Given the description of an element on the screen output the (x, y) to click on. 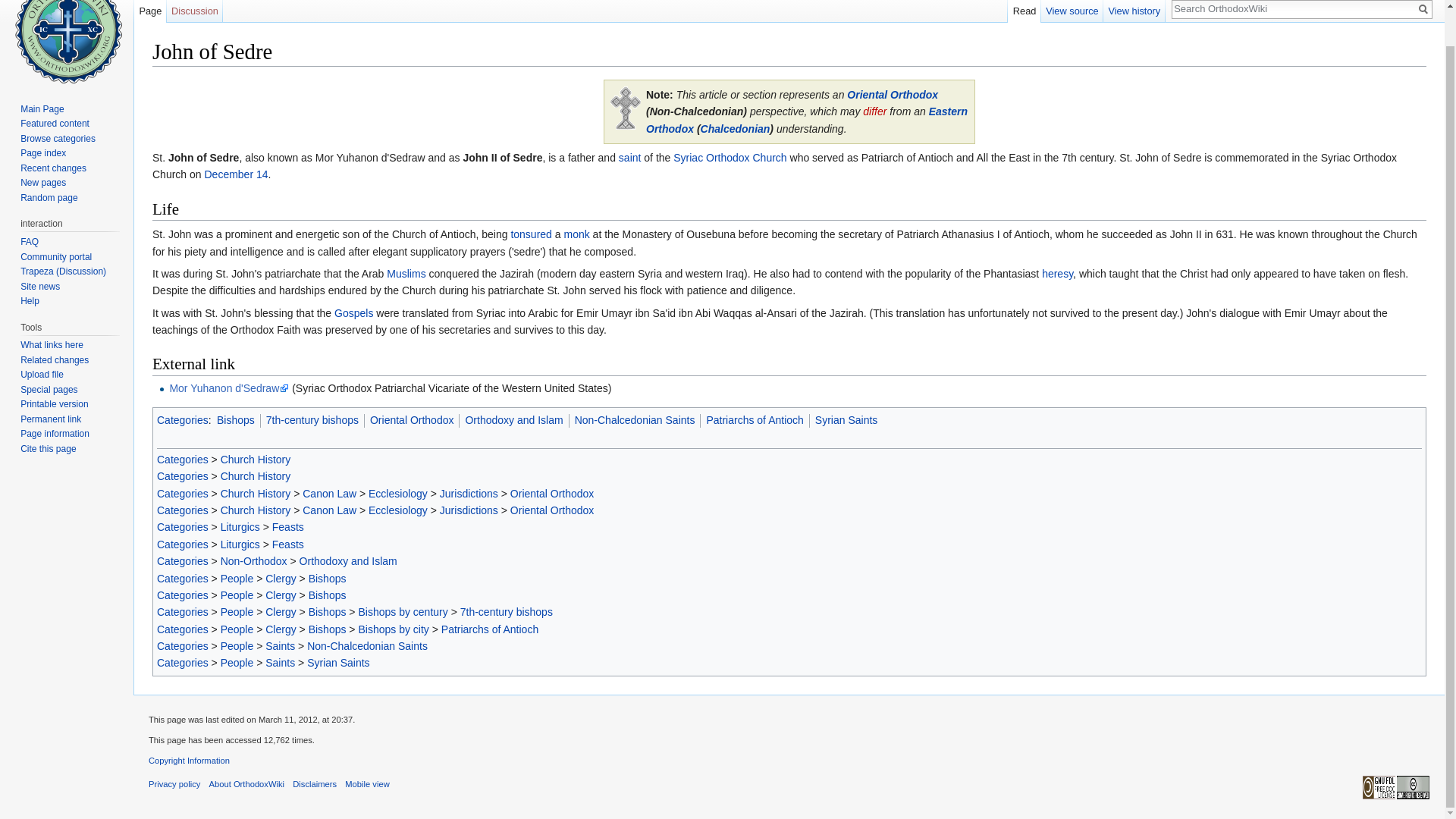
Orthodox Church (807, 119)
monk (576, 234)
Category:7th-century bishops (312, 419)
Chalcedonian (735, 128)
Muslims (406, 273)
Go (1423, 8)
Oriental Orthodox (892, 94)
Saint (630, 157)
Muslim (406, 273)
Ecclesiology (398, 510)
